Given the description of an element on the screen output the (x, y) to click on. 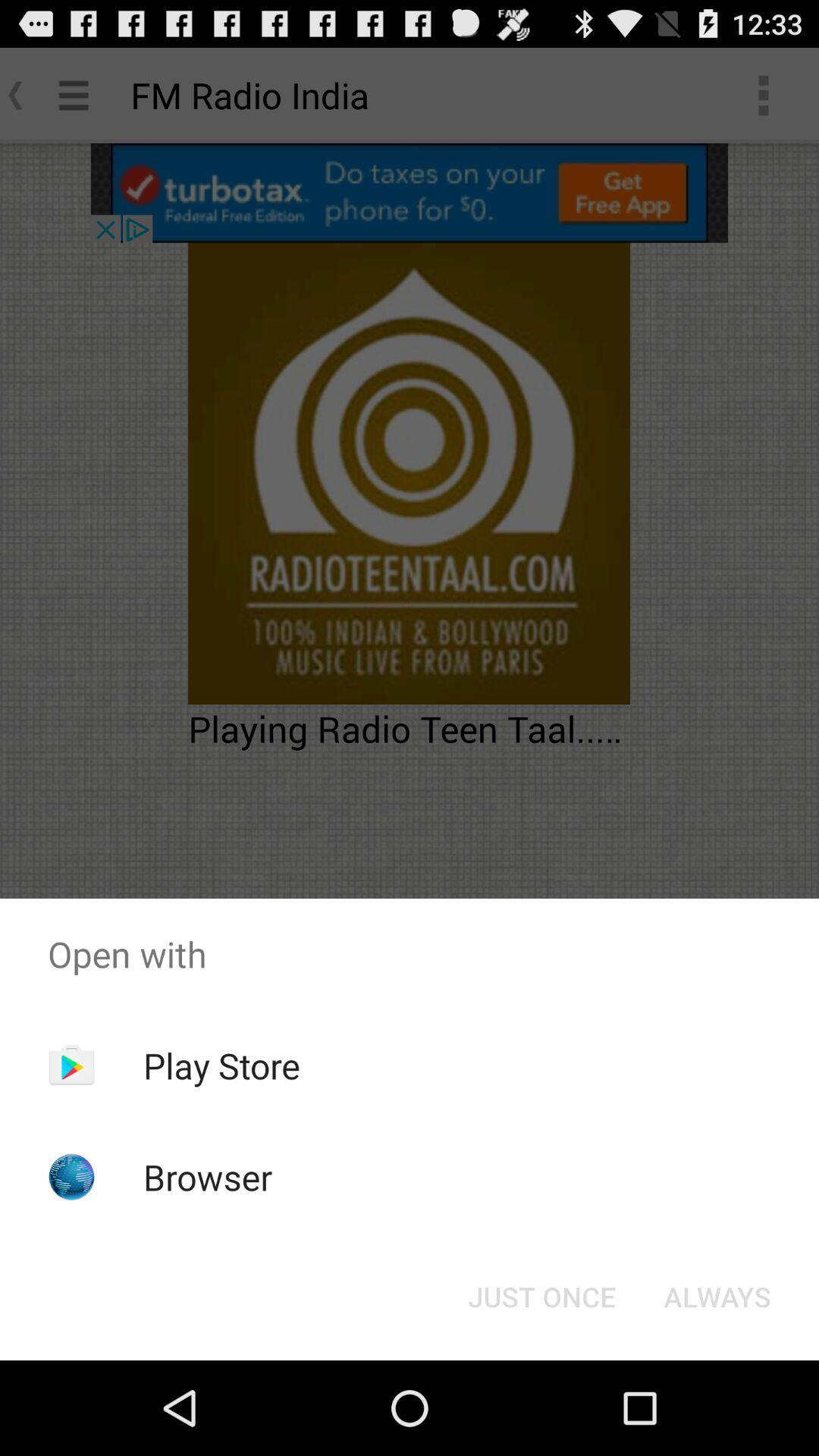
launch button at the bottom (541, 1296)
